Given the description of an element on the screen output the (x, y) to click on. 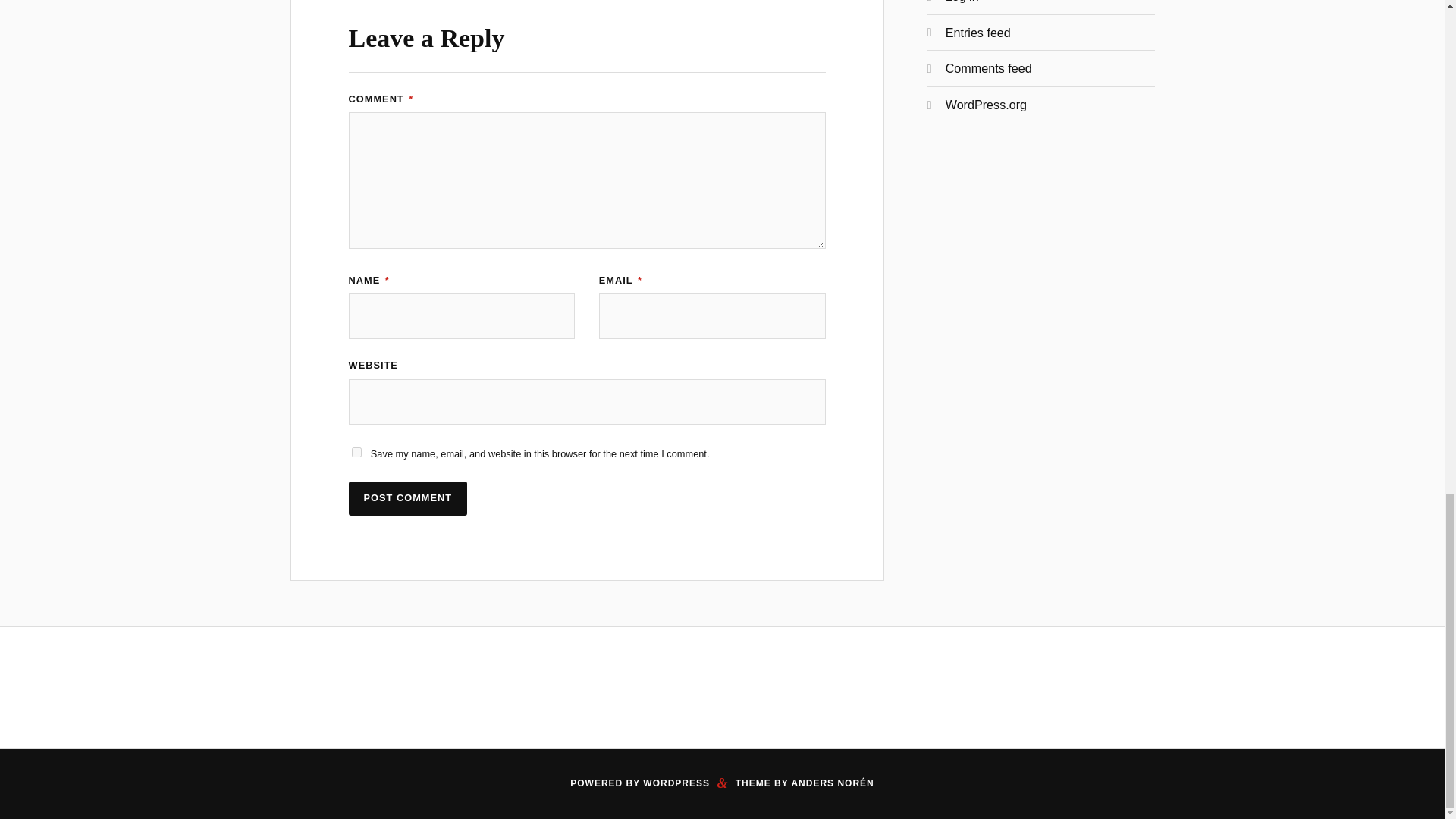
yes (356, 452)
Post Comment (408, 498)
WordPress.org (985, 104)
Comments feed (988, 68)
Entries feed (977, 32)
WORDPRESS (676, 783)
Post Comment (408, 498)
Log in (961, 1)
